Given the description of an element on the screen output the (x, y) to click on. 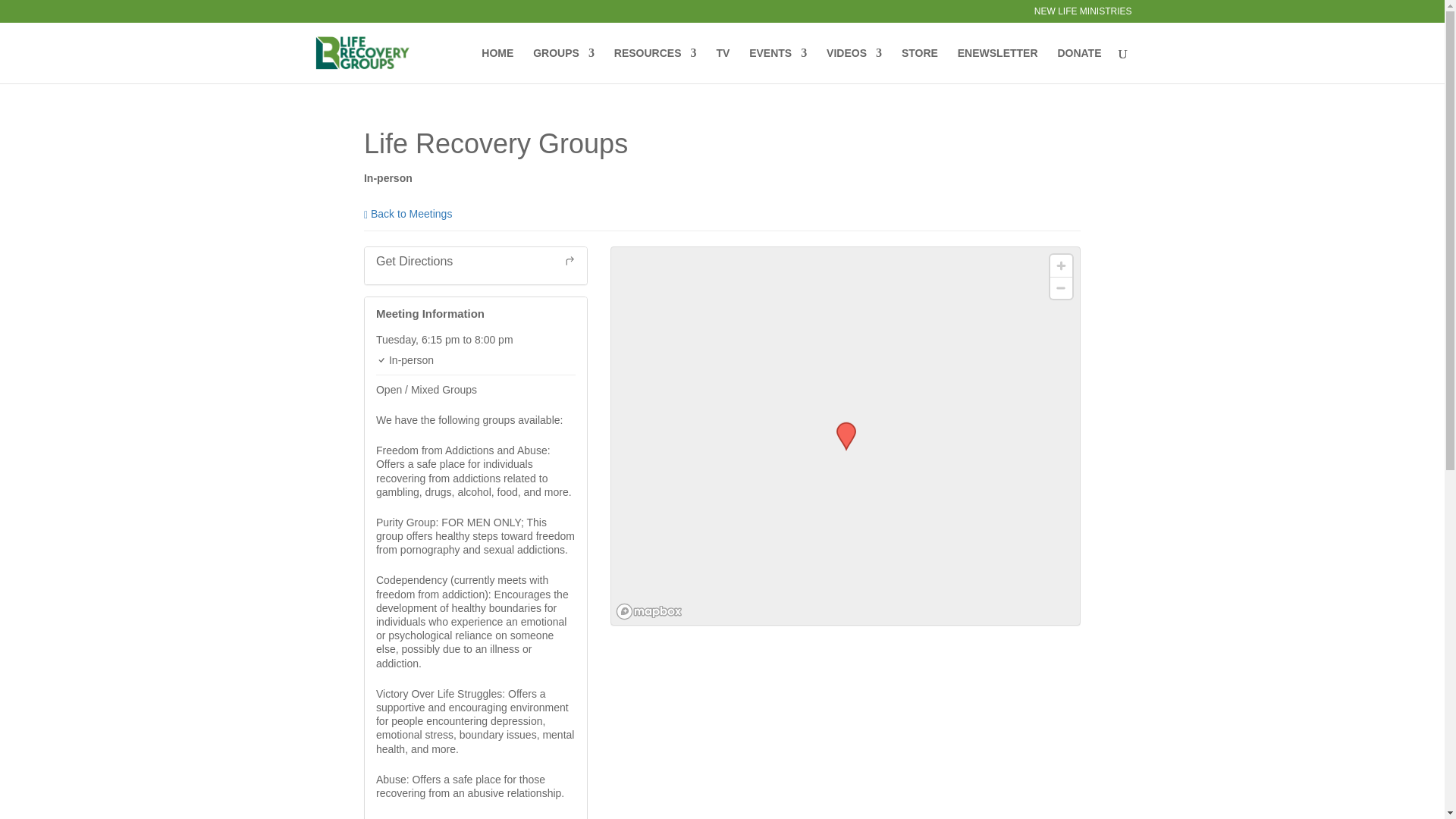
STORE (919, 65)
TV (722, 65)
GROUPS (563, 65)
ENEWSLETTER (998, 65)
NEW LIFE MINISTRIES (1082, 14)
VIDEOS (854, 65)
EVENTS (777, 65)
DONATE (1078, 65)
Zoom out (1060, 287)
HOME (497, 65)
Zoom in (1060, 265)
RESOURCES (655, 65)
